Given the description of an element on the screen output the (x, y) to click on. 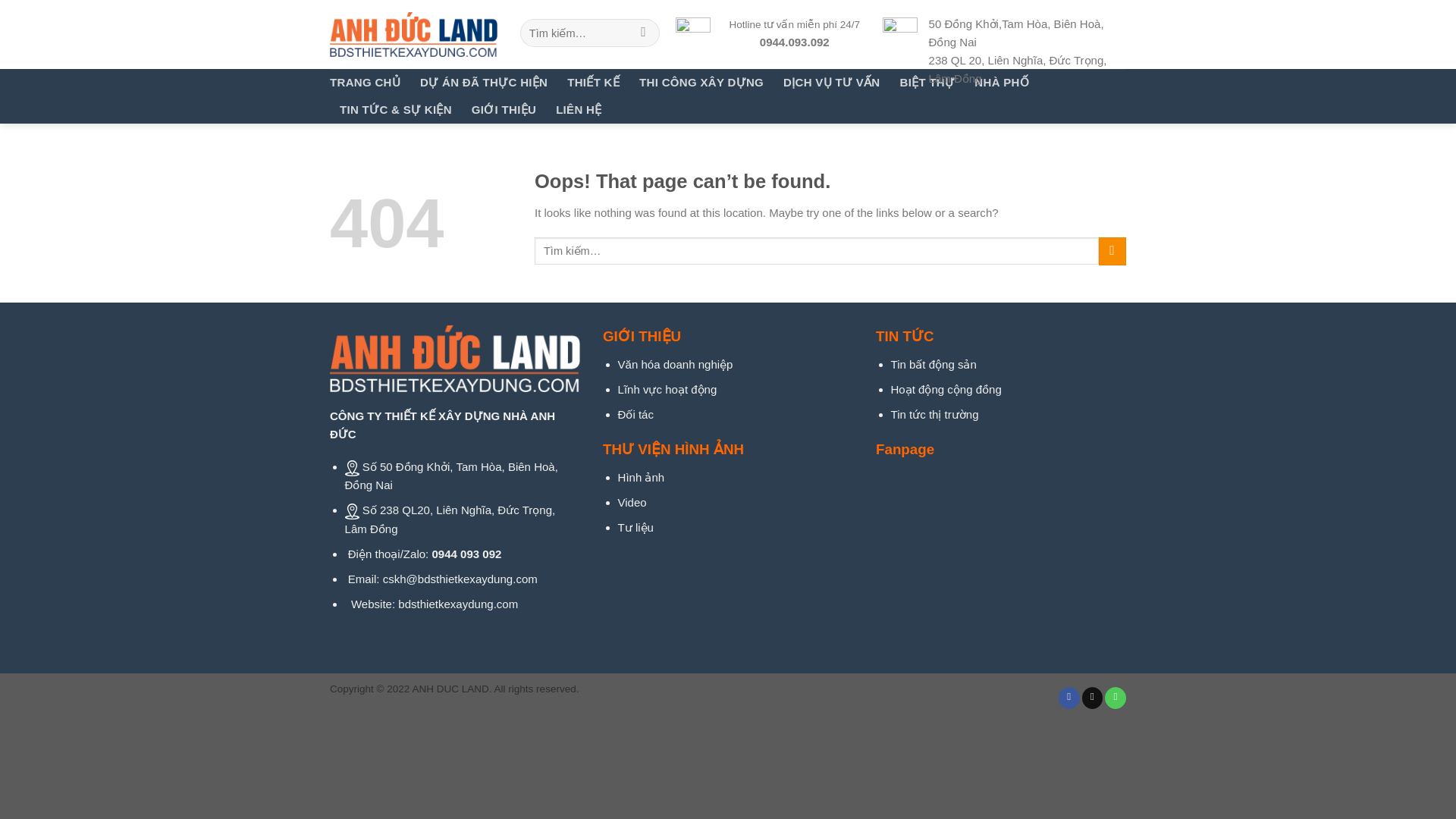
Video (631, 502)
Call us (1115, 698)
Follow on Facebook (1069, 698)
bdsthietkexaydung.com (457, 603)
Send us an email (1092, 698)
Video (631, 502)
